Given the description of an element on the screen output the (x, y) to click on. 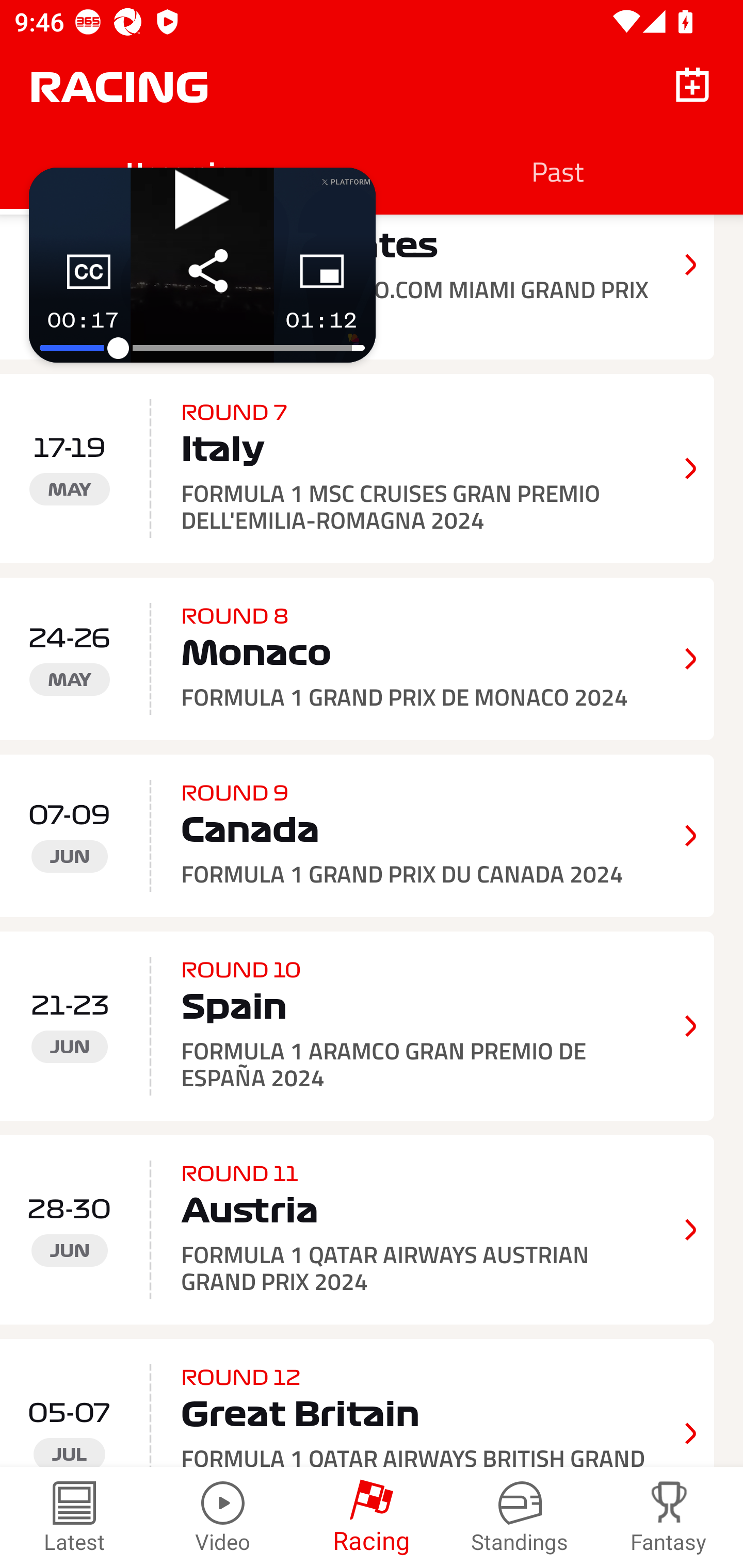
Past (557, 171)
Latest (74, 1517)
Video (222, 1517)
Standings (519, 1517)
Fantasy (668, 1517)
